Given the description of an element on the screen output the (x, y) to click on. 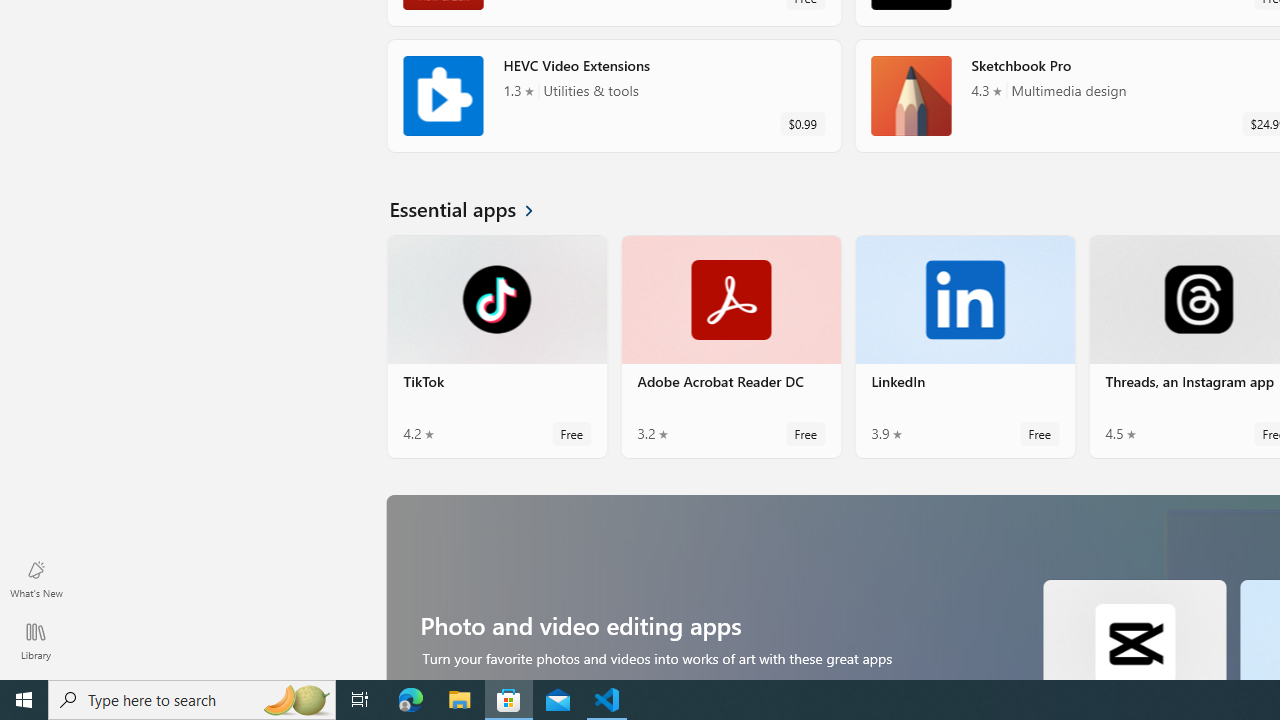
TikTok. Average rating of 4.2 out of five stars. Free   (497, 346)
LinkedIn. Average rating of 3.9 out of five stars. Free   (964, 346)
What's New (35, 578)
See all  Essential apps (473, 208)
CapCut. Average rating of 4.7 out of five stars. Free   (1134, 628)
Library (35, 640)
